Given the description of an element on the screen output the (x, y) to click on. 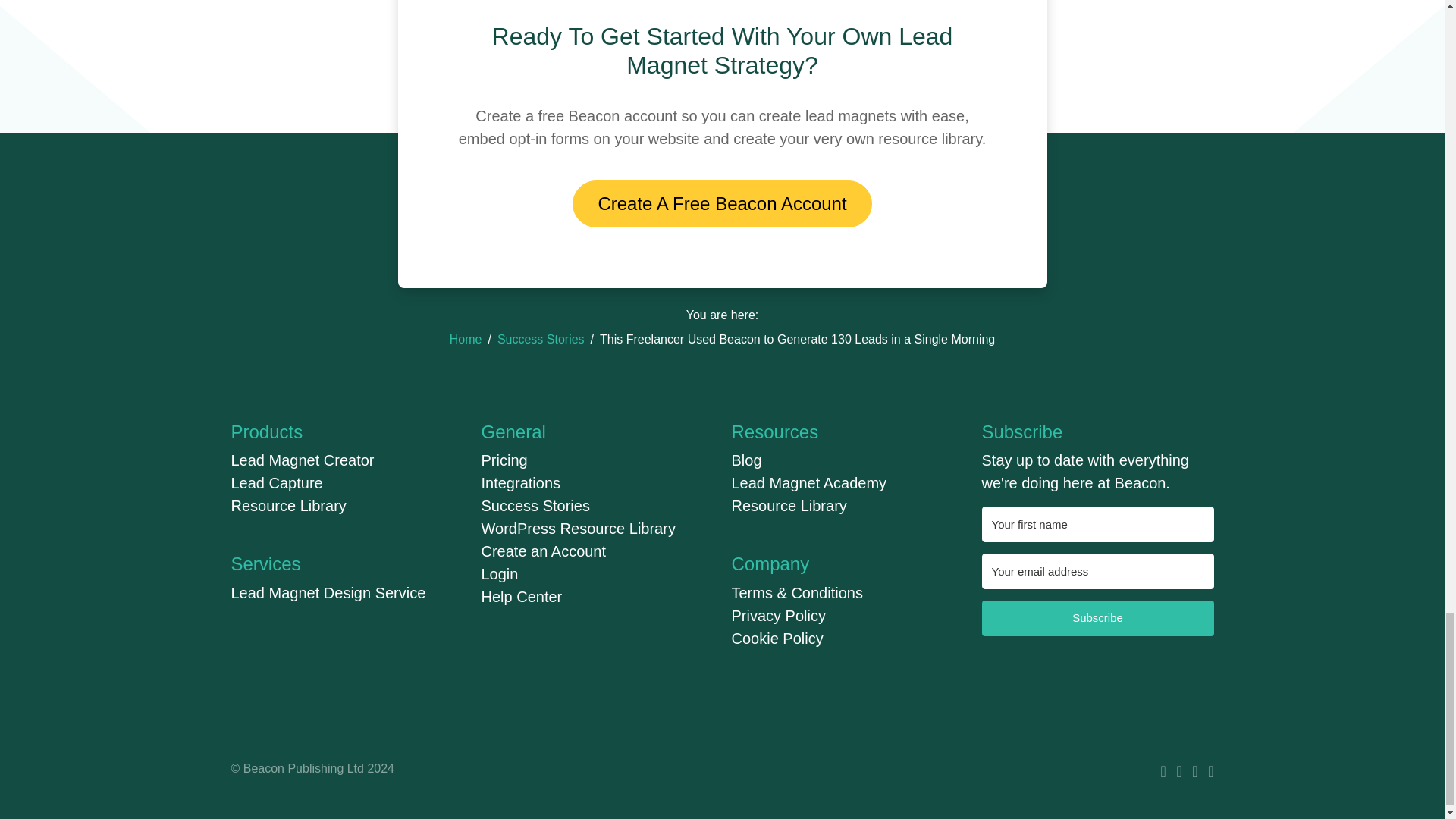
Subscribe (1096, 618)
Create an Account (542, 550)
Lead Magnet Design Service (327, 592)
Lead Magnet Creator (302, 460)
Resource Library (787, 505)
Create A Free Beacon Account (721, 203)
Blog (745, 460)
Home (465, 338)
WordPress Resource Library (577, 528)
Pricing (503, 460)
Integrations (520, 483)
Success Stories (541, 338)
Resource Library (288, 505)
Privacy Policy (777, 615)
Lead Capture (275, 483)
